Given the description of an element on the screen output the (x, y) to click on. 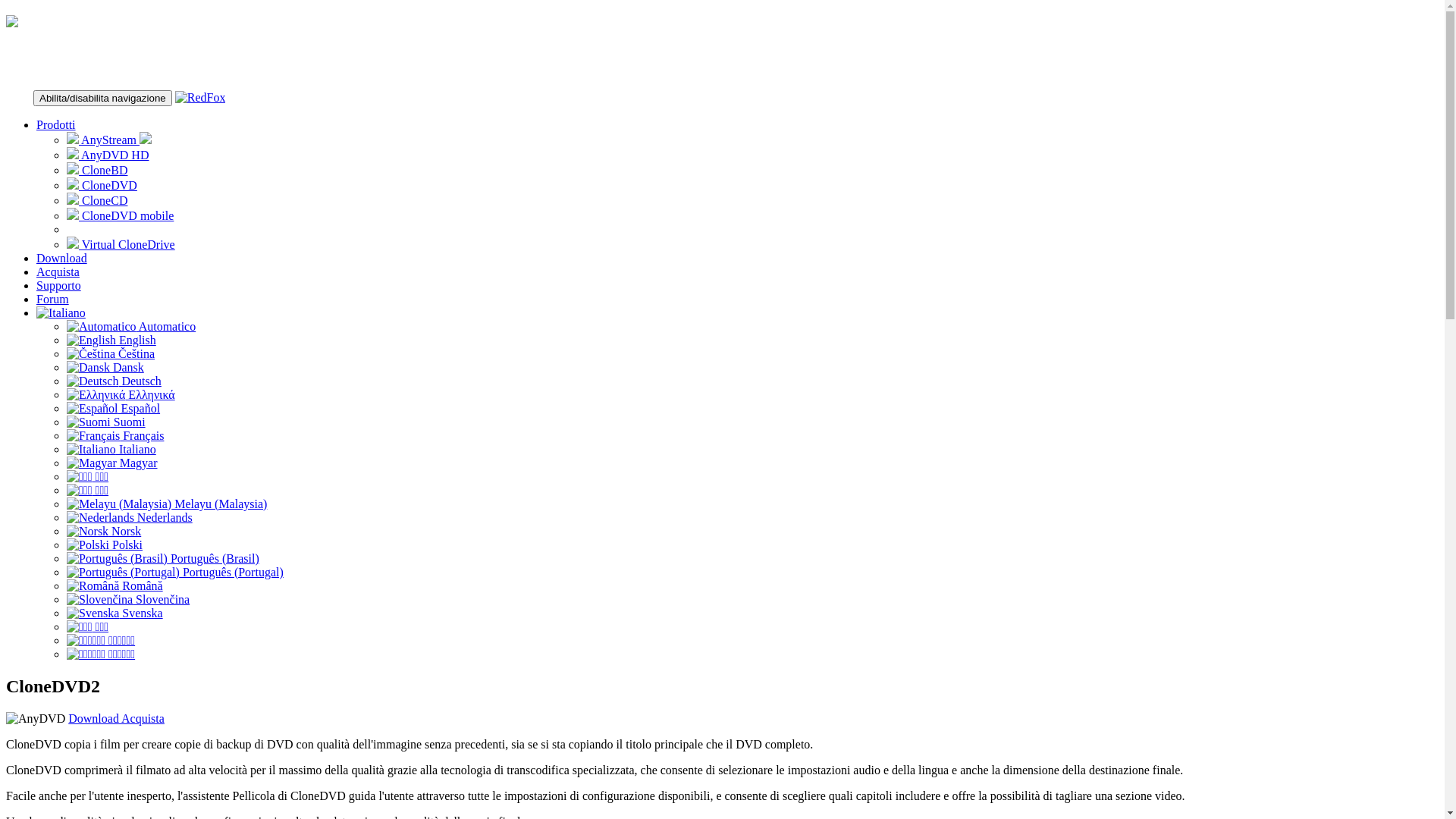
AnyDVD HD Element type: text (107, 154)
Virtual CloneDrive Element type: text (120, 244)
Prodotti Element type: text (55, 124)
Forum Element type: text (52, 298)
Magyar Element type: text (111, 462)
CloneCD Element type: text (96, 200)
Italiano Element type: text (111, 448)
Deutsch Element type: text (113, 380)
Download Element type: text (61, 257)
Acquista Element type: text (142, 718)
CloneDVD Element type: text (101, 184)
CloneBD Element type: text (96, 169)
Automatico Element type: text (130, 326)
Nederlands Element type: text (129, 517)
English Element type: text (111, 339)
Norsk Element type: text (103, 530)
Melayu (Malaysia) Element type: text (166, 503)
CloneDVD mobile Element type: text (119, 215)
Dansk Element type: text (105, 366)
AnyStream Element type: text (108, 139)
Polski Element type: text (104, 544)
Supporto Element type: text (58, 285)
Abilita/disabilita navigazione Element type: text (102, 98)
Download Element type: text (94, 718)
Svenska Element type: text (114, 612)
Suomi Element type: text (105, 421)
Acquista Element type: text (57, 271)
